Given the description of an element on the screen output the (x, y) to click on. 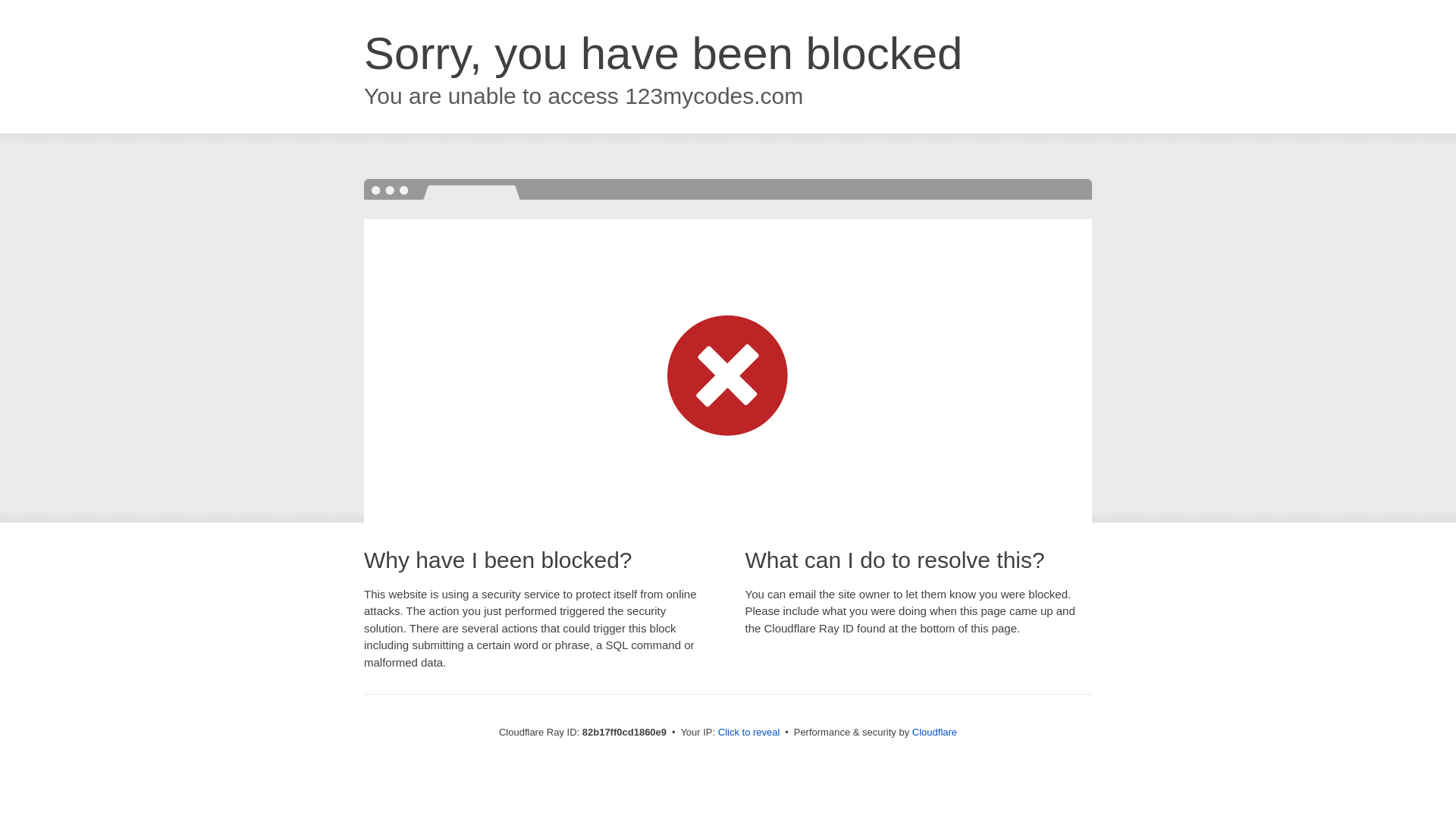
Cloudflare Element type: text (934, 731)
Click to reveal Element type: text (749, 732)
